Given the description of an element on the screen output the (x, y) to click on. 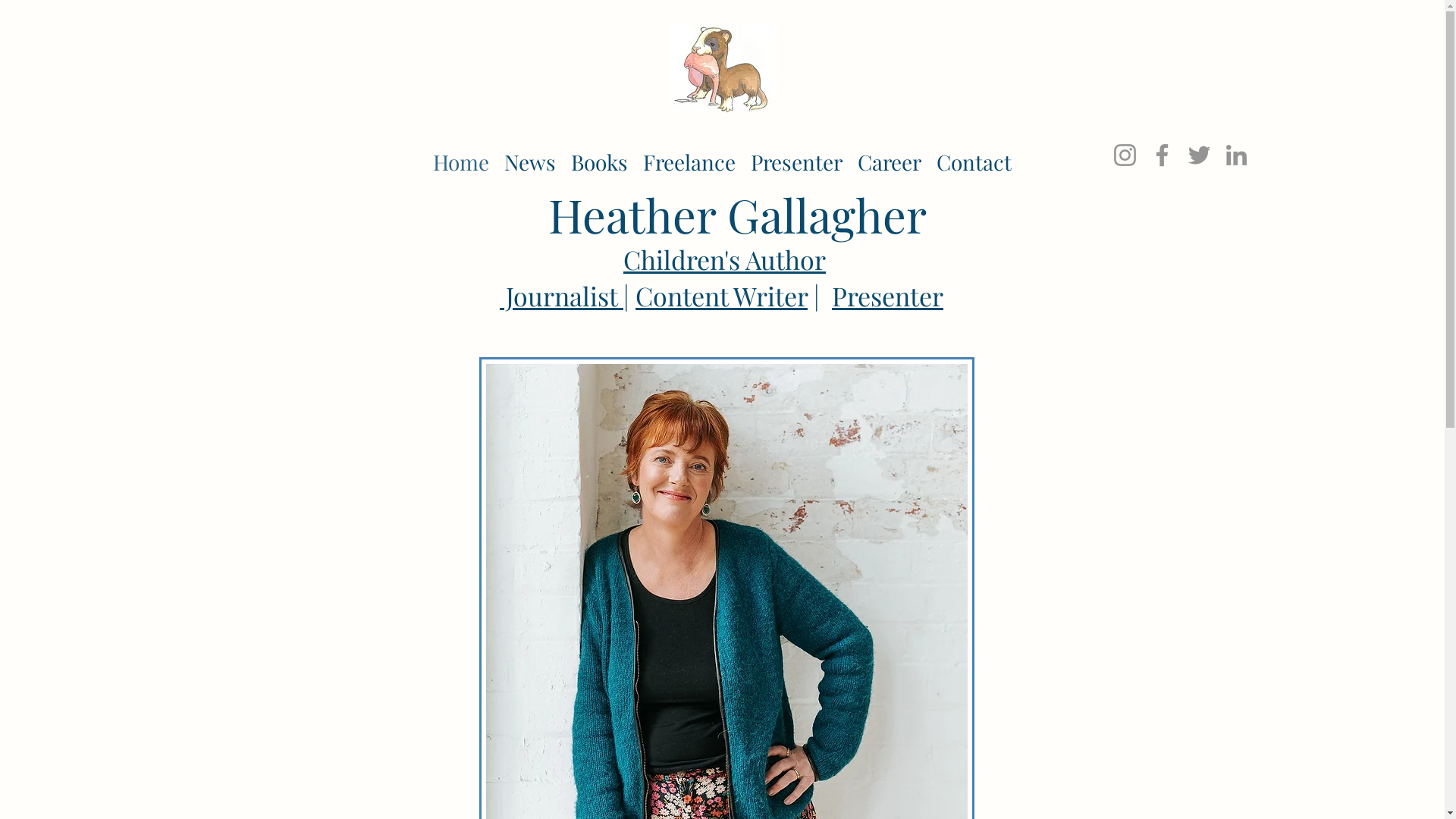
Contact Element type: text (973, 158)
Freelance Element type: text (689, 158)
Presenter Element type: text (796, 158)
Career Element type: text (889, 158)
Presenter Element type: text (887, 295)
Content Writer Element type: text (721, 295)
Children's Author Element type: text (724, 258)
Books Element type: text (599, 158)
TWIPLA (Visitor Analytics) Element type: hover (171, 304)
 Journalist Element type: text (561, 295)
Home Element type: text (460, 158)
News Element type: text (529, 158)
